Given the description of an element on the screen output the (x, y) to click on. 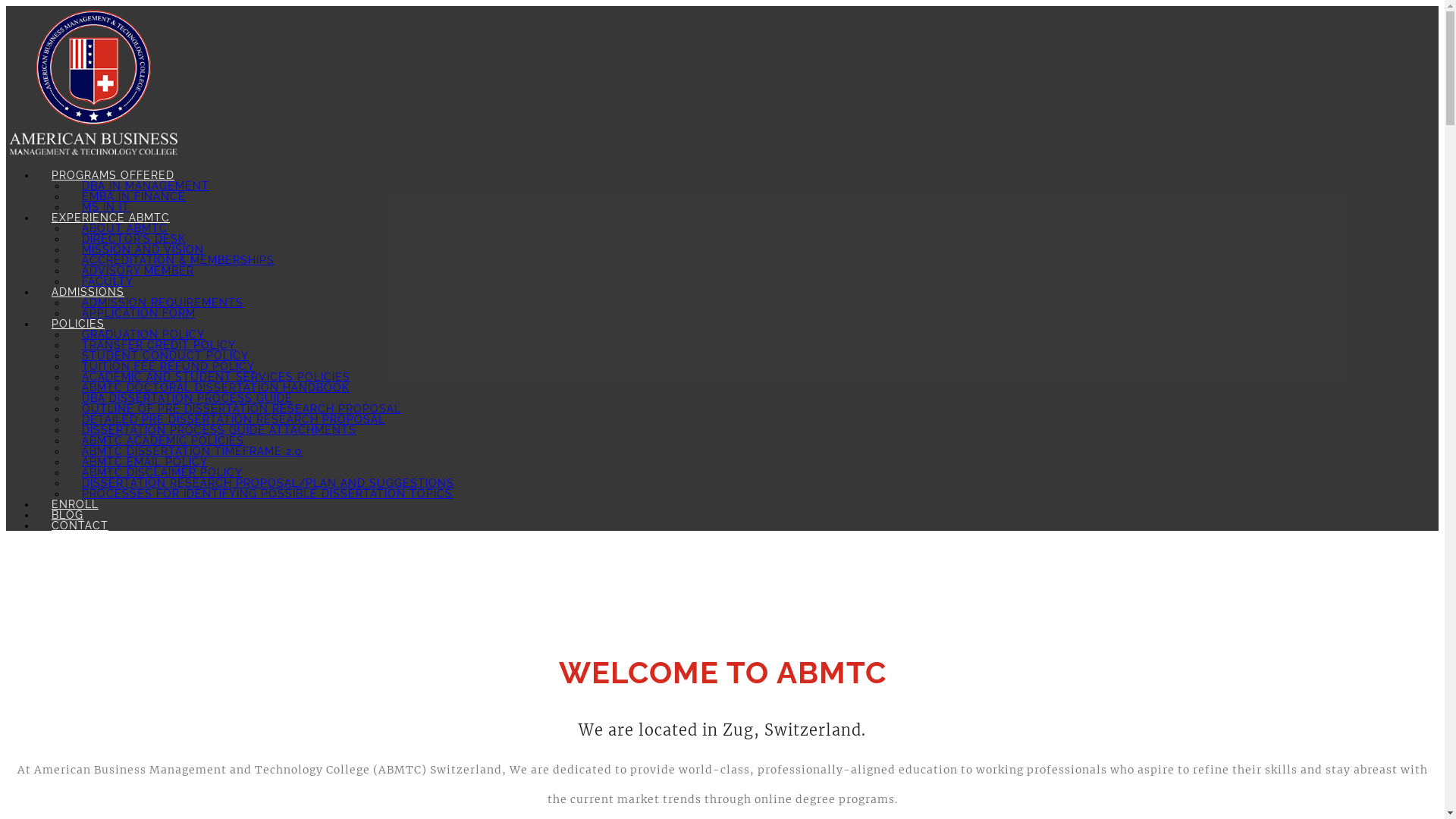
EXPERIENCE ABMTC Element type: text (110, 217)
POLICIES Element type: text (77, 323)
PROGRAMS OFFERED Element type: text (112, 175)
ADVISORY MEMBER Element type: text (137, 270)
ABOUT ABMTC Element type: text (124, 228)
ADMISSIONS Element type: text (87, 291)
DETAILED PRE DISSERTATION RESEARCH PROPOSAL Element type: text (233, 419)
CONTACT Element type: text (79, 525)
ACCREDITATION & MEMBERSHIPS Element type: text (177, 260)
DBA DISSERTATION PROCESS GUIDE Element type: text (186, 398)
STUDENT CONDUCT POLICY Element type: text (164, 355)
MS IN IT Element type: text (105, 206)
TUITION FEE REFUND POLICY Element type: text (167, 366)
GRADUATION POLICY Element type: text (142, 334)
APPLICATION FORM Element type: text (138, 313)
FACULTY Element type: text (107, 281)
PROCESSES FOR IDENTIFYING POSSIBLE DISSERTATION TOPICS Element type: text (266, 493)
MISSION AND VISION Element type: text (142, 249)
BLOG Element type: text (67, 514)
DISSERTATION PROCESS GUIDE ATTACHMENTS Element type: text (218, 429)
DBA IN MANAGEMENT Element type: text (145, 185)
OUTLINE OF PRE DISSERTATION RESEARCH PROPOSAL Element type: text (241, 408)
TRANSFER CREDIT POLICY Element type: text (158, 344)
ABMTC EMAIL POLICY Element type: text (144, 461)
ABMTC DOCTORAL DISSERTATION HANDBOOK Element type: text (215, 387)
DISSERTATION RESEARCH PROPOSAL/PLAN AND SUGGESTIONS Element type: text (267, 482)
ENROLL Element type: text (74, 504)
ADMISSION REQUIREMENTS Element type: text (162, 302)
EMBA IN FINANCE Element type: text (133, 196)
ABMTC DISSERTATION TIMEFRAME 2.0 Element type: text (191, 451)
ACADEMIC AND STUDENT SERVICES POLICIES Element type: text (215, 376)
ABMTC ACADEMIC POLICIES Element type: text (162, 440)
ABMTC DISCLAIMER POLICY Element type: text (161, 472)
